Given the description of an element on the screen output the (x, y) to click on. 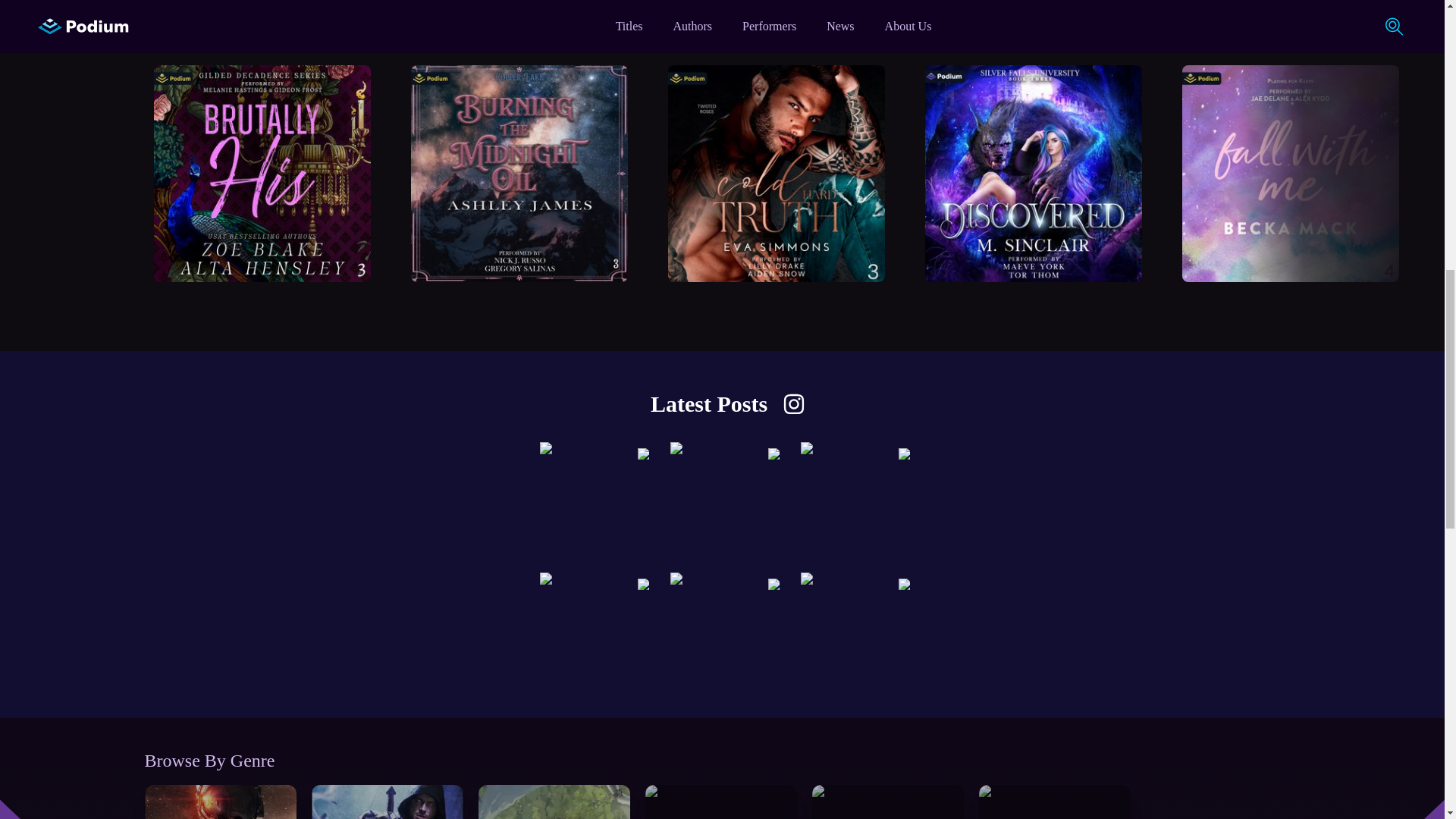
Latest Posts (722, 796)
